Given the description of an element on the screen output the (x, y) to click on. 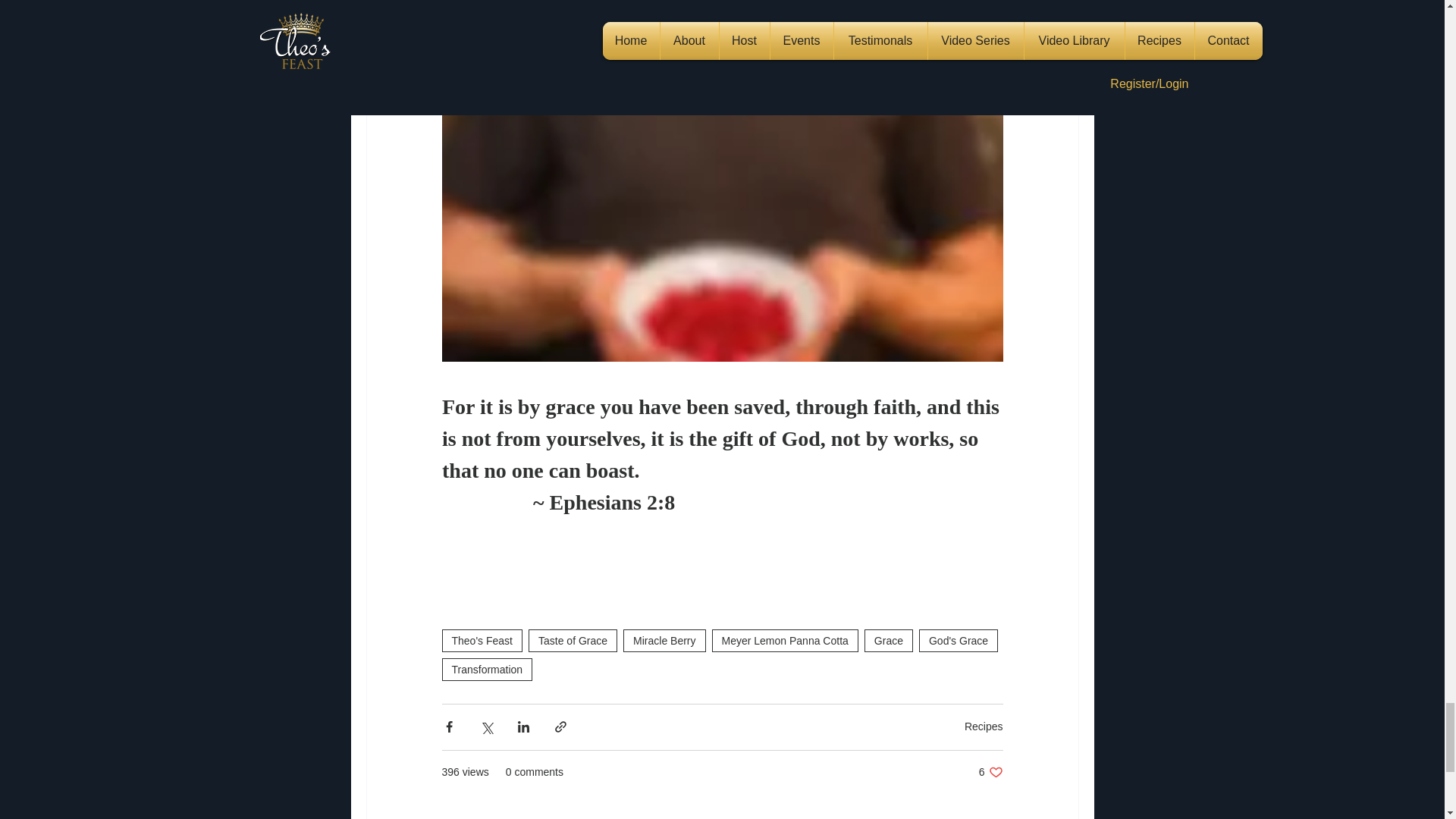
Theo's Feast (481, 640)
Meyer Lemon Panna Cotta (785, 640)
Miracle Berry (663, 640)
Grace (888, 640)
Transformation (486, 669)
God's Grace (957, 640)
Taste of Grace (572, 640)
Recipes (990, 771)
